Given the description of an element on the screen output the (x, y) to click on. 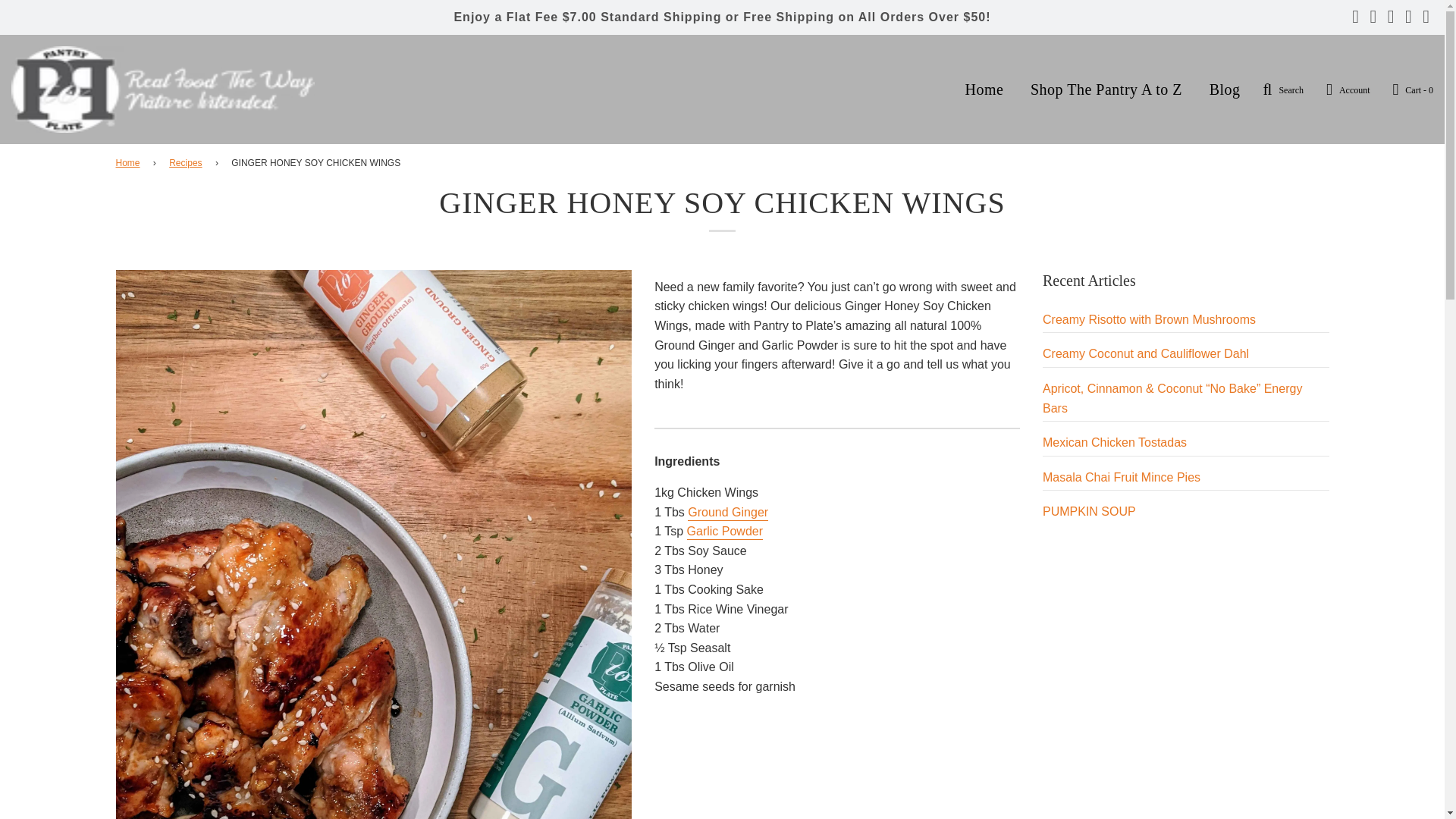
Blog (1225, 89)
Creamy Risotto with Brown Mushrooms (1148, 318)
Garlic Powder (724, 531)
Log in (1348, 88)
Creamy Coconut and Cauliflower Dahl (1145, 353)
Mexican Chicken Tostadas (1114, 441)
Cart - 0 (1412, 89)
Account (1348, 88)
Shop The Pantry A to Z (1106, 89)
Recipes (187, 163)
